Given the description of an element on the screen output the (x, y) to click on. 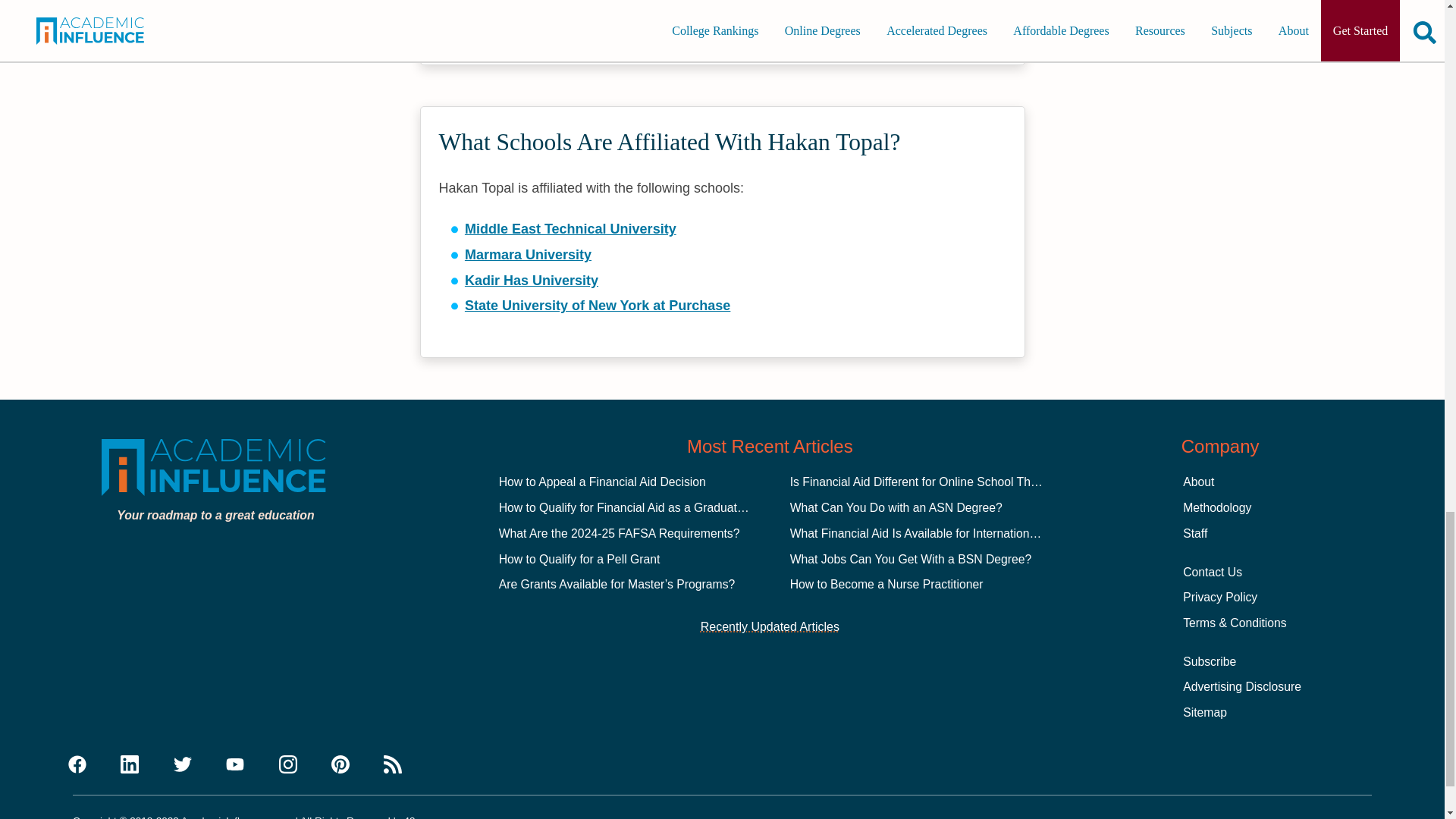
Is Financial Aid Different for Online School Than In-Person? (947, 481)
en.wikipedia.org (518, 12)
Kadir Has University (531, 280)
How to Qualify for Financial Aid as a Graduate Student (644, 507)
Contact Us (1211, 571)
Recently Updated Articles (770, 627)
What Jobs Can You Get With a BSN Degree? (911, 558)
What Can You Do with an ASN Degree? (896, 507)
Marmara University (527, 254)
How to Become a Nurse Practitioner (887, 584)
